Given the description of an element on the screen output the (x, y) to click on. 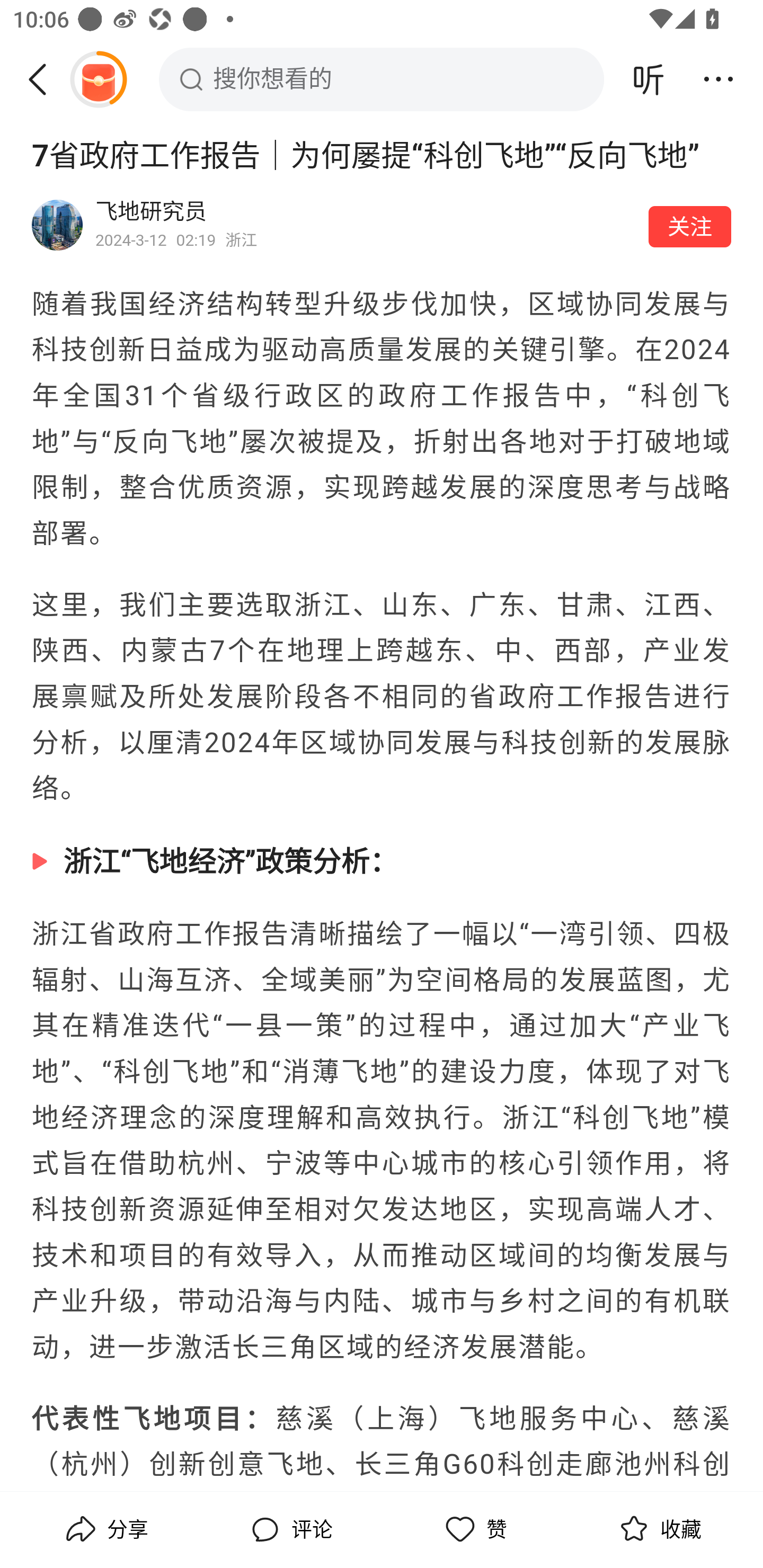
返回 (44, 78)
听头条 (648, 78)
更多操作 (718, 78)
搜你想看的 搜索框，搜你想看的 (381, 79)
阅读赚金币 (98, 79)
作者：飞地研究员，2024-3-12 02:19发布，浙江 (365, 224)
关注作者 (689, 226)
分享 (104, 1529)
评论, 评论 (288, 1529)
,收藏 收藏 (658, 1529)
